Given the description of an element on the screen output the (x, y) to click on. 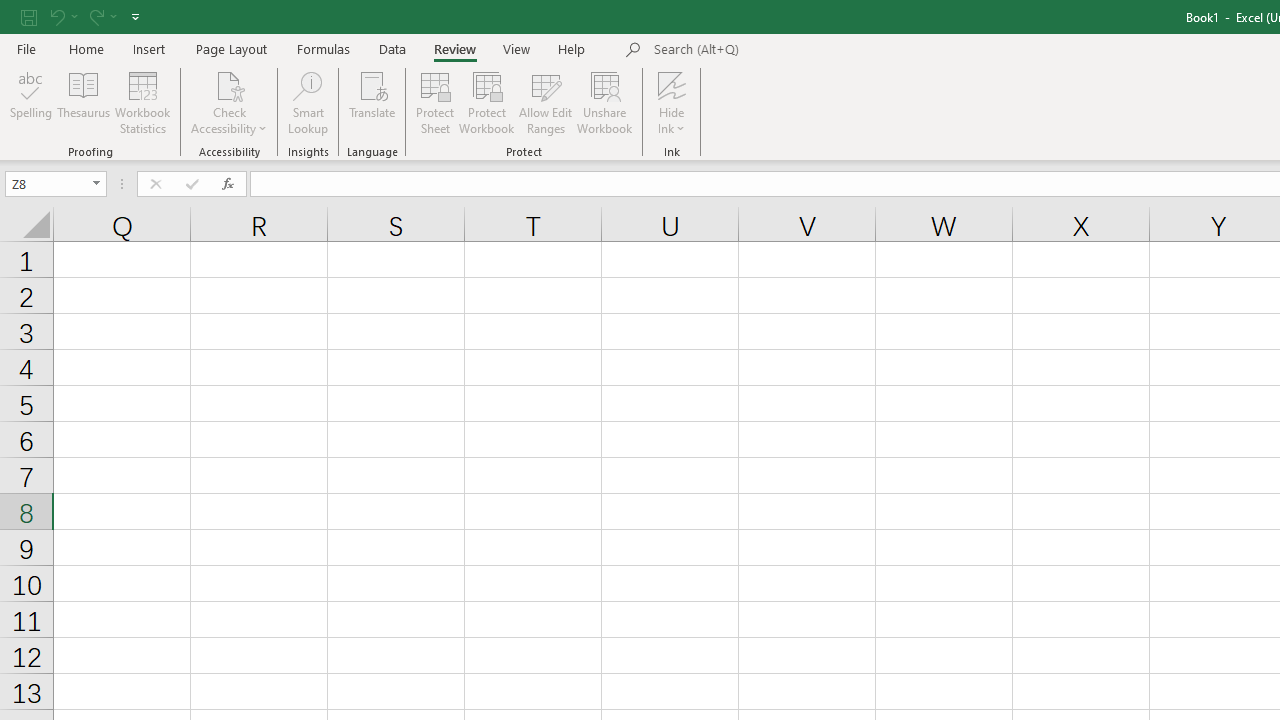
Protect Sheet... (434, 102)
Translate (372, 102)
Allow Edit Ranges (545, 102)
Protect Workbook... (486, 102)
